Given the description of an element on the screen output the (x, y) to click on. 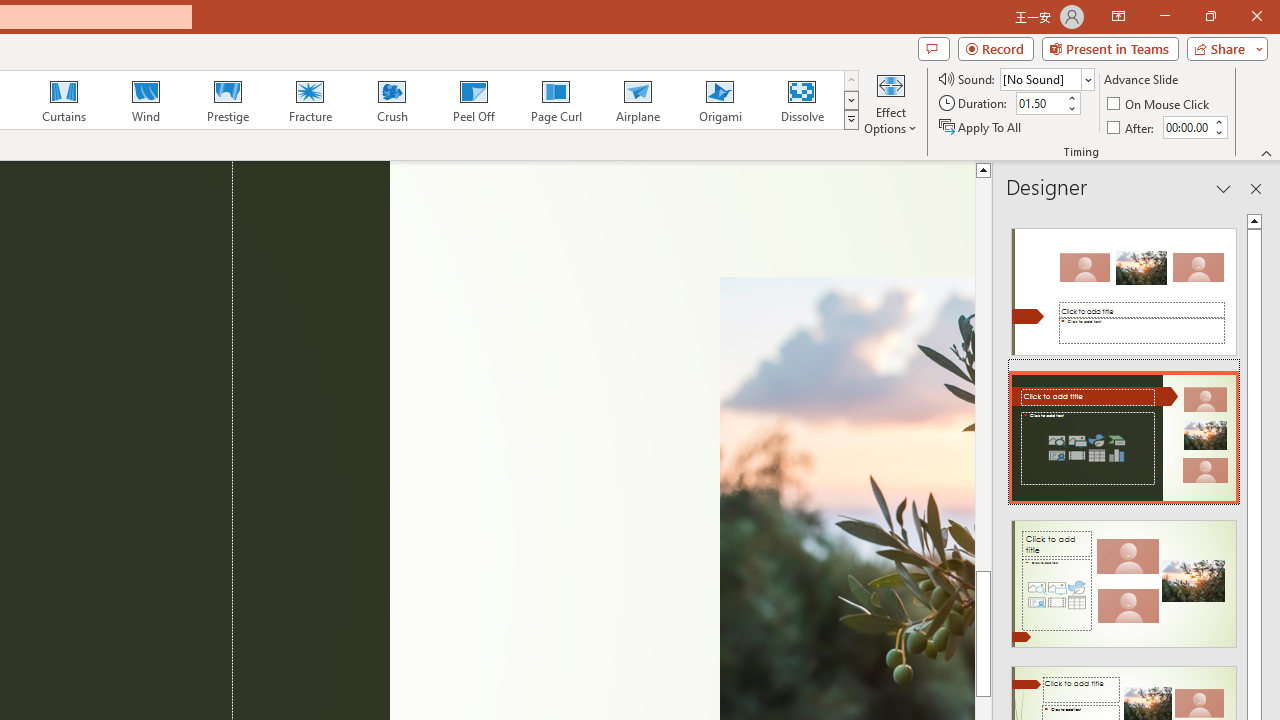
Row Down (850, 100)
Apply To All (981, 126)
Airplane (637, 100)
Less (1218, 132)
Class: NetUIImage (851, 119)
On Mouse Click (1159, 103)
Effect Options (890, 102)
Design Idea (1124, 577)
Open (1087, 79)
Recommended Design: Design Idea (1124, 286)
Dissolve (802, 100)
More (1218, 121)
Prestige (227, 100)
